Given the description of an element on the screen output the (x, y) to click on. 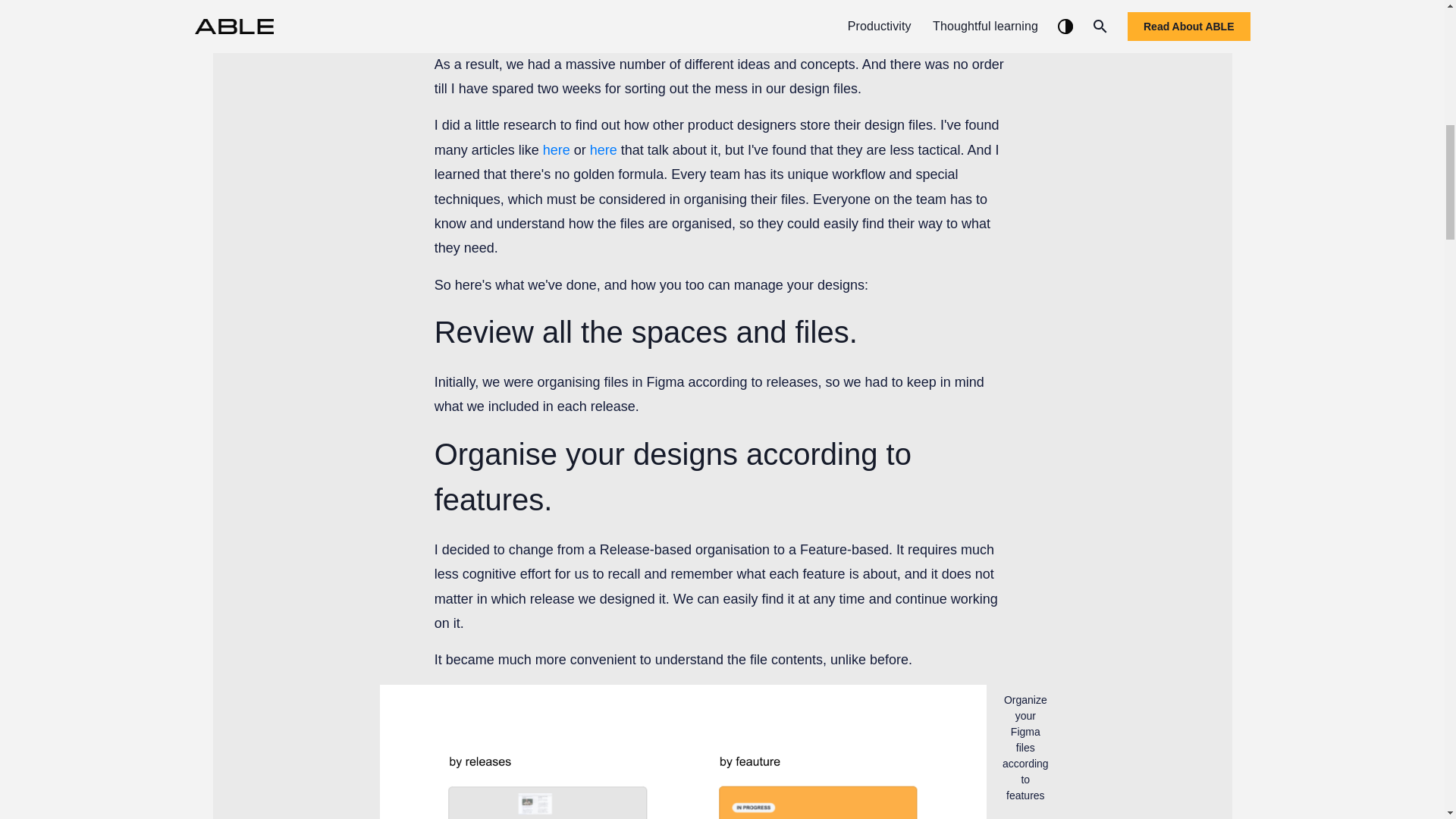
here (603, 150)
here (556, 150)
